Given the description of an element on the screen output the (x, y) to click on. 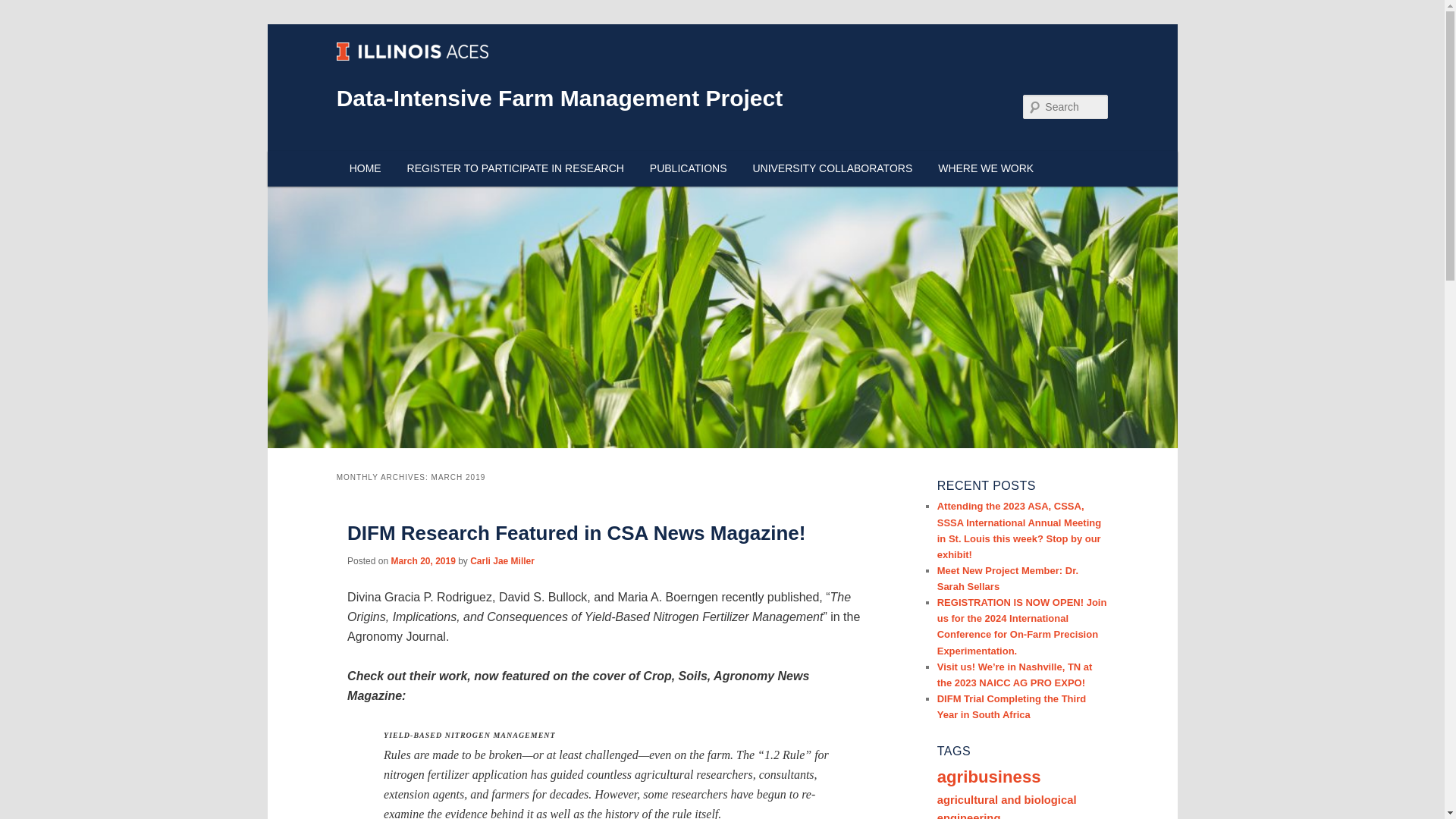
1:56 pm (422, 561)
UNIVERSITY COLLABORATORS (831, 168)
HOME (365, 168)
Carli Jae Miller (502, 561)
Search (25, 9)
View all posts by Carli Jae Miller (502, 561)
PUBLICATIONS (688, 168)
DIFM Research Featured in CSA News Magazine! (576, 532)
WHERE WE WORK (985, 168)
March 20, 2019 (422, 561)
